Given the description of an element on the screen output the (x, y) to click on. 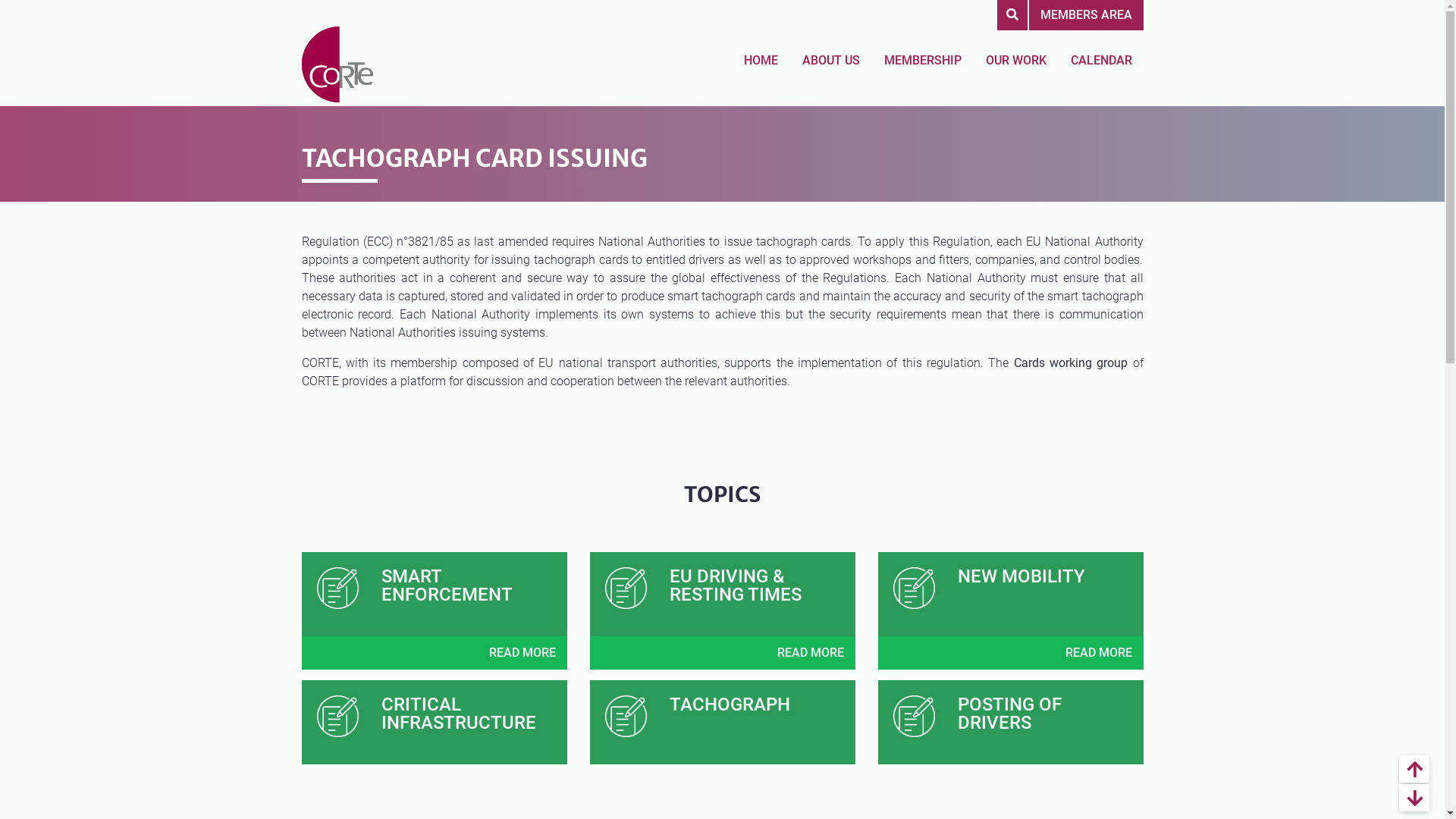
CORTE Element type: hover (337, 53)
CALENDAR Element type: text (1100, 60)
READ MORE Element type: text (810, 652)
OUR WORK Element type: text (1015, 60)
MEMBERSHIP Element type: text (922, 60)
ABOUT US Element type: text (830, 60)
MEMBERS AREA Element type: text (1085, 15)
HOME Element type: text (760, 60)
READ MORE Element type: text (1098, 652)
READ MORE Element type: text (522, 652)
